Given the description of an element on the screen output the (x, y) to click on. 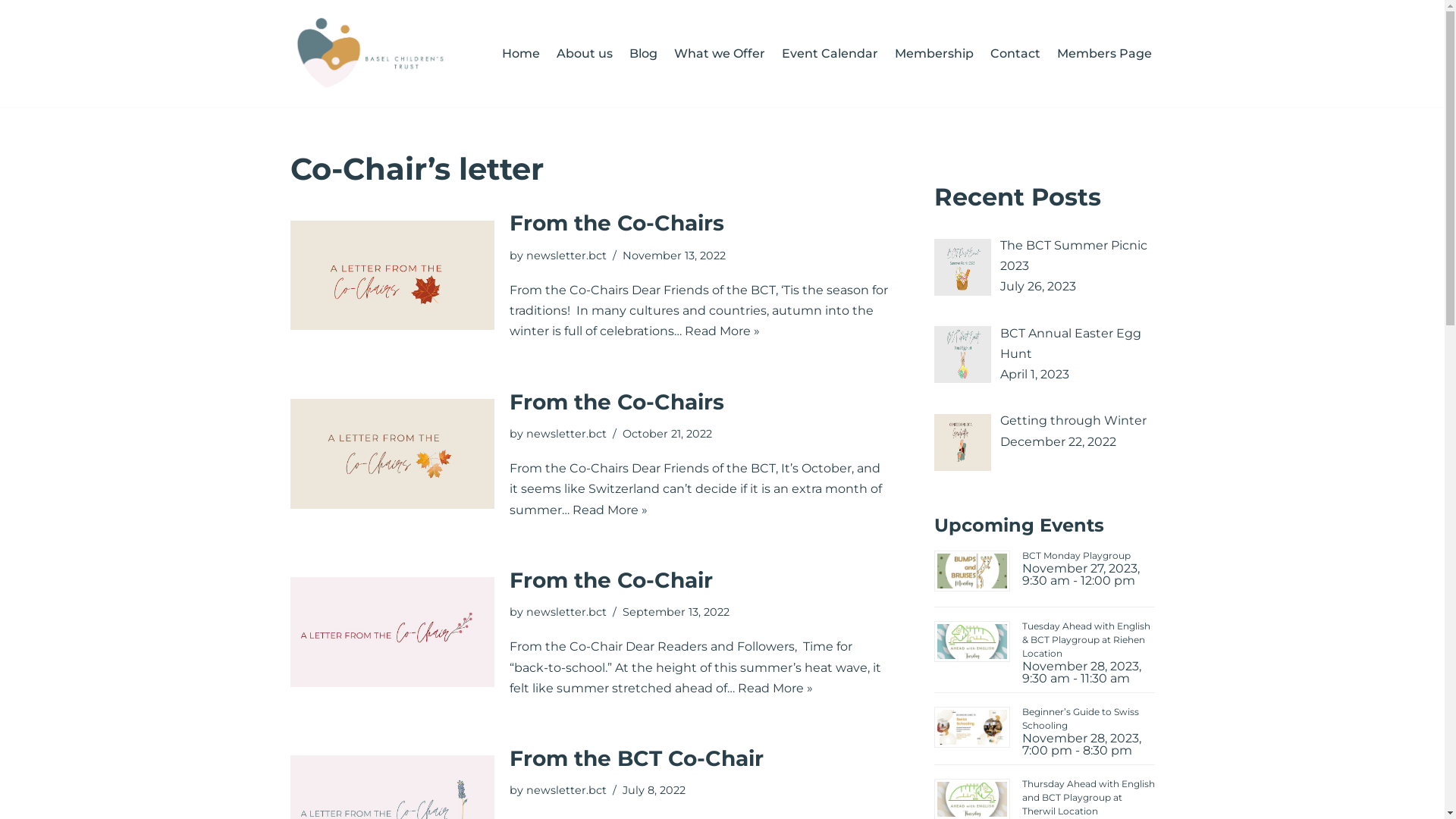
newsletter.bct Element type: text (566, 255)
Members Page Element type: text (1104, 53)
From the Co-Chair Element type: text (610, 580)
newsletter.bct Element type: text (566, 611)
From the Co-Chair Element type: hover (391, 632)
From the Co-Chairs Element type: text (616, 222)
About us Element type: text (584, 53)
Home Element type: text (520, 53)
Getting through Winter Element type: text (1072, 420)
From the Co-Chairs Element type: hover (391, 275)
The BCT Summer Picnic 2023 Element type: text (1072, 255)
Skip to content Element type: text (11, 31)
Membership Element type: text (933, 53)
newsletter.bct Element type: text (566, 433)
BCT Annual Easter Egg Hunt Element type: text (1069, 343)
From the Co-Chairs Element type: text (616, 401)
BCT Monday Playgroup Element type: text (1076, 555)
Blog Element type: text (643, 53)
From the Co-Chairs Element type: hover (391, 453)
From the BCT Co-Chair Element type: text (636, 758)
Event Calendar Element type: text (829, 53)
newsletter.bct Element type: text (566, 790)
Contact Element type: text (1015, 53)
What we Offer Element type: text (718, 53)
